Given the description of an element on the screen output the (x, y) to click on. 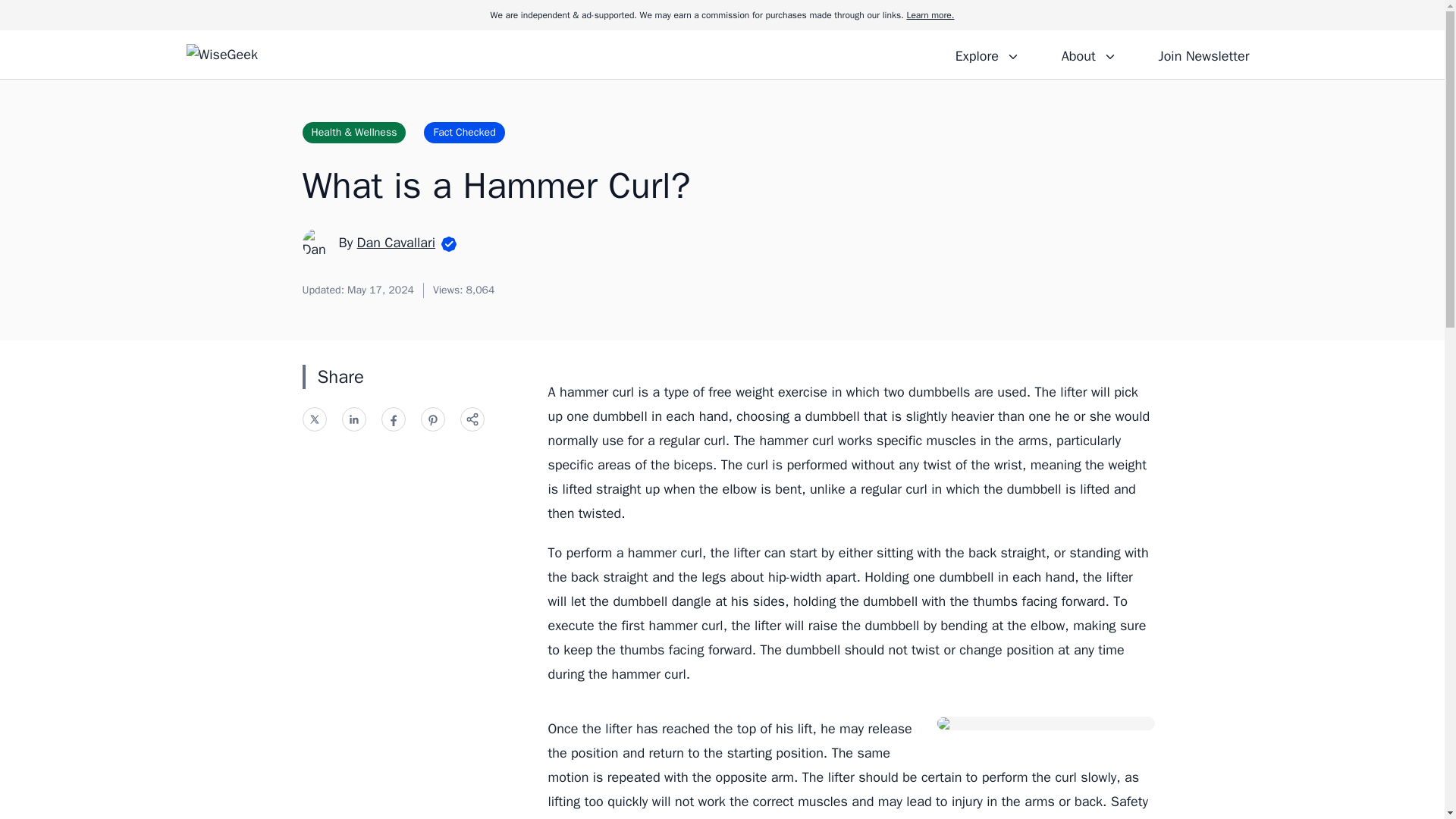
Explore (986, 54)
Fact Checked (463, 132)
Join Newsletter (1202, 54)
Learn more. (929, 15)
Dan Cavallari (395, 242)
About (1088, 54)
